Given the description of an element on the screen output the (x, y) to click on. 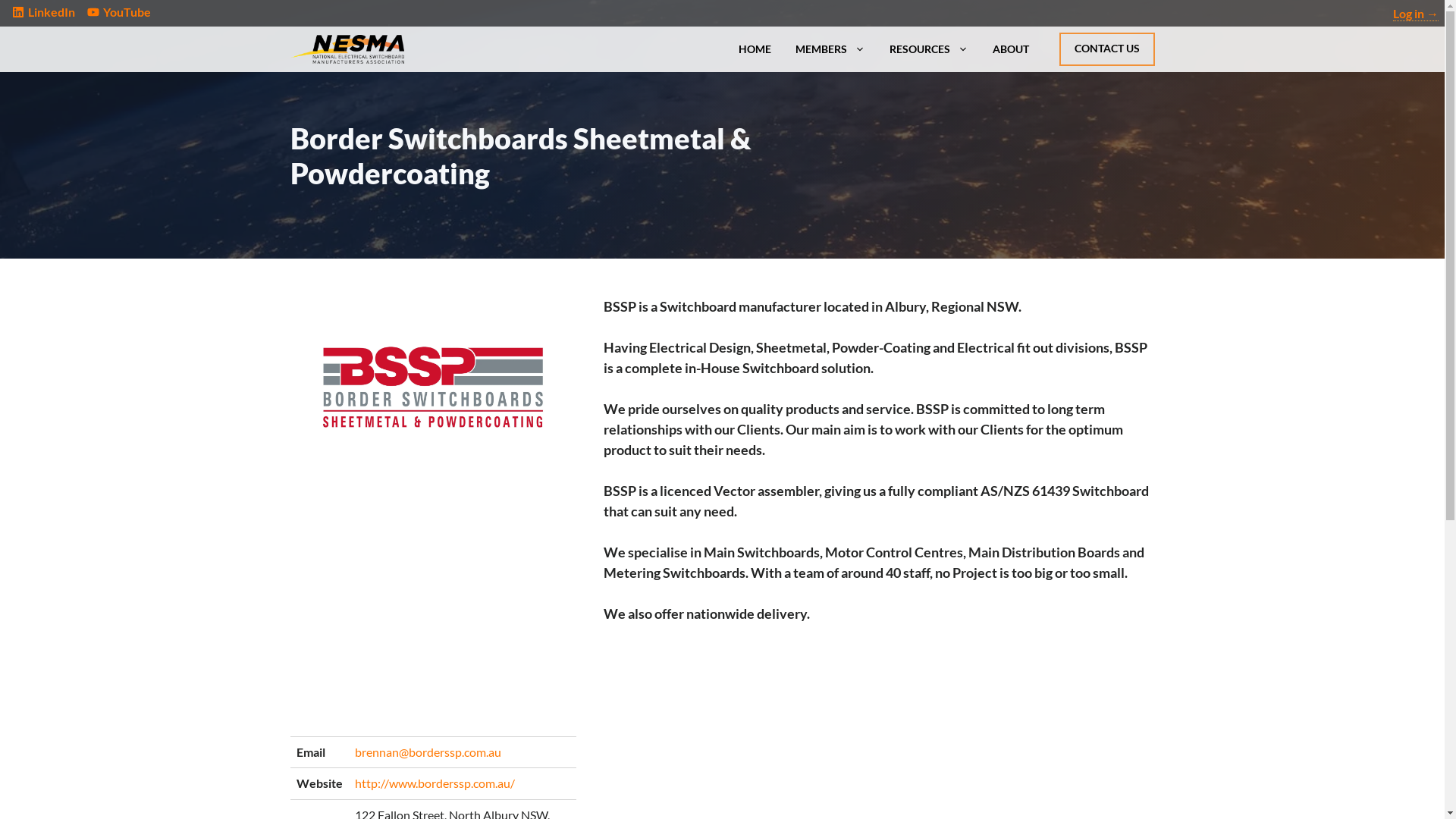
LinkedIn Element type: text (51, 11)
RESOURCES Element type: text (927, 49)
http://www.borderssp.com.au/ Element type: text (434, 782)
ABOUT Element type: text (1009, 49)
YouTube Element type: text (126, 11)
Log in Element type: text (1415, 13)
HOME Element type: text (754, 49)
brennan@borderssp.com.au Element type: text (427, 751)
CONTACT US Element type: text (1106, 48)
MEMBERS Element type: text (829, 49)
